Given the description of an element on the screen output the (x, y) to click on. 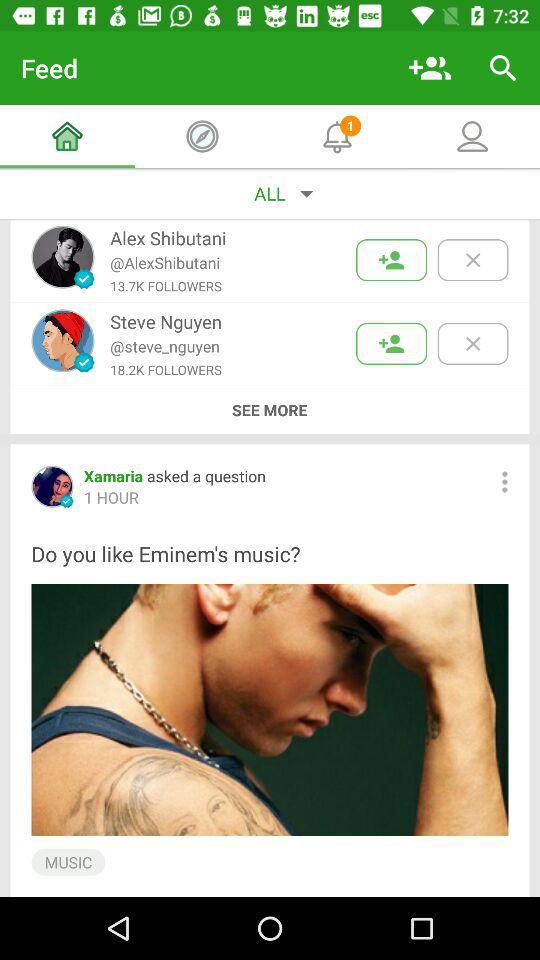
swipe to see more (269, 409)
